Given the description of an element on the screen output the (x, y) to click on. 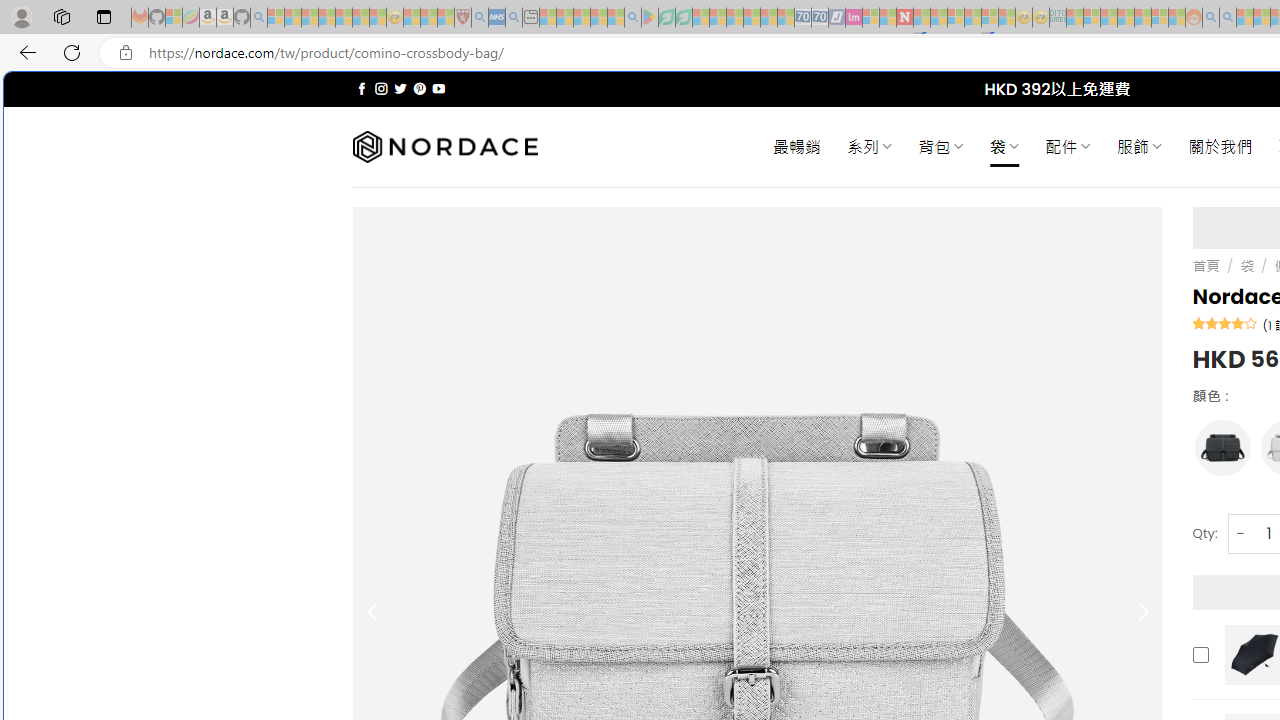
- (1240, 532)
